Given the description of an element on the screen output the (x, y) to click on. 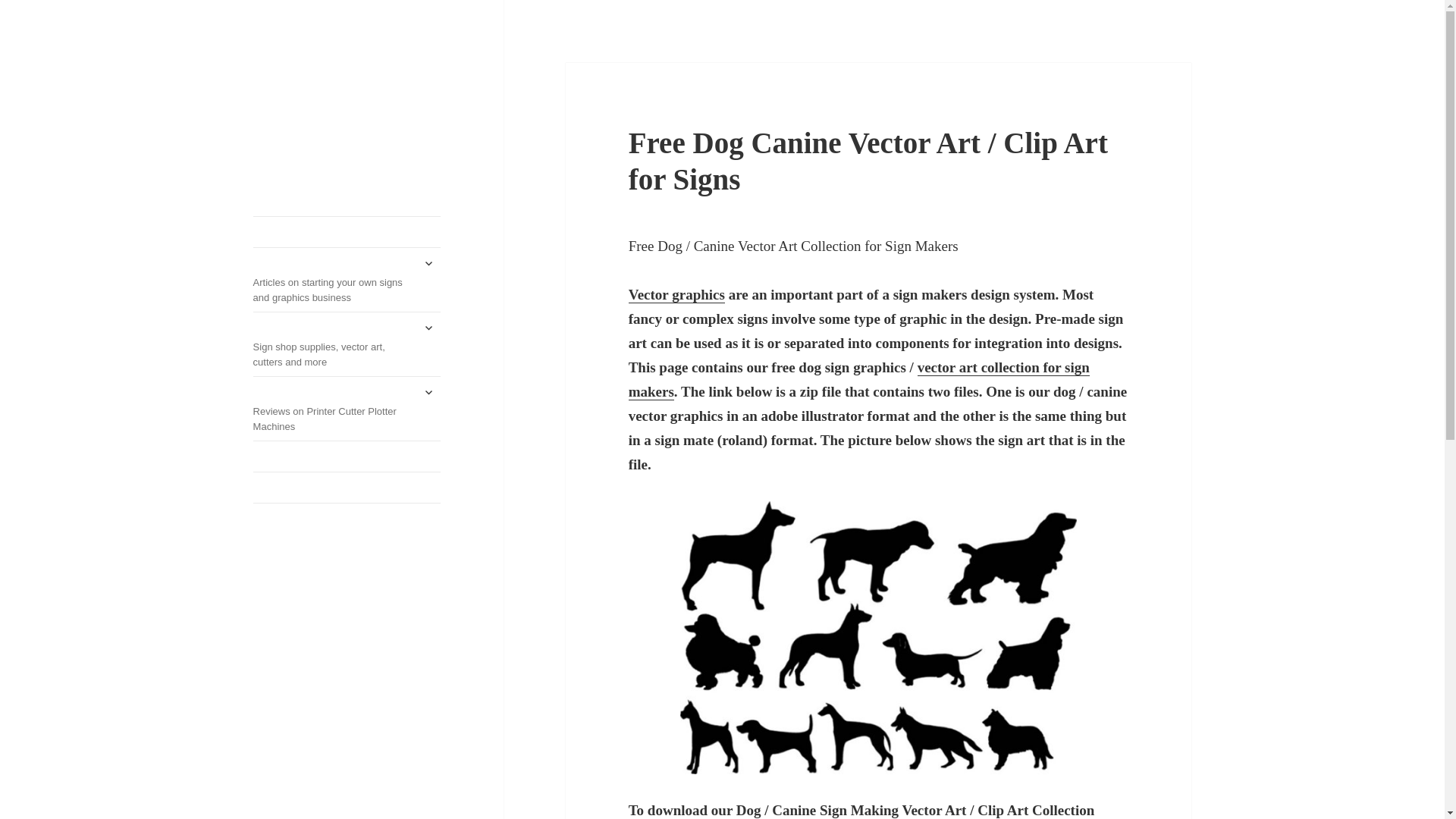
expand child menu (428, 392)
Dog Canine Vector Clip Art Graphics (878, 637)
expand child menu (428, 262)
How to Start a Sign Business (347, 86)
Click To Go To Our Online Store (347, 232)
expand child menu (428, 327)
